Given the description of an element on the screen output the (x, y) to click on. 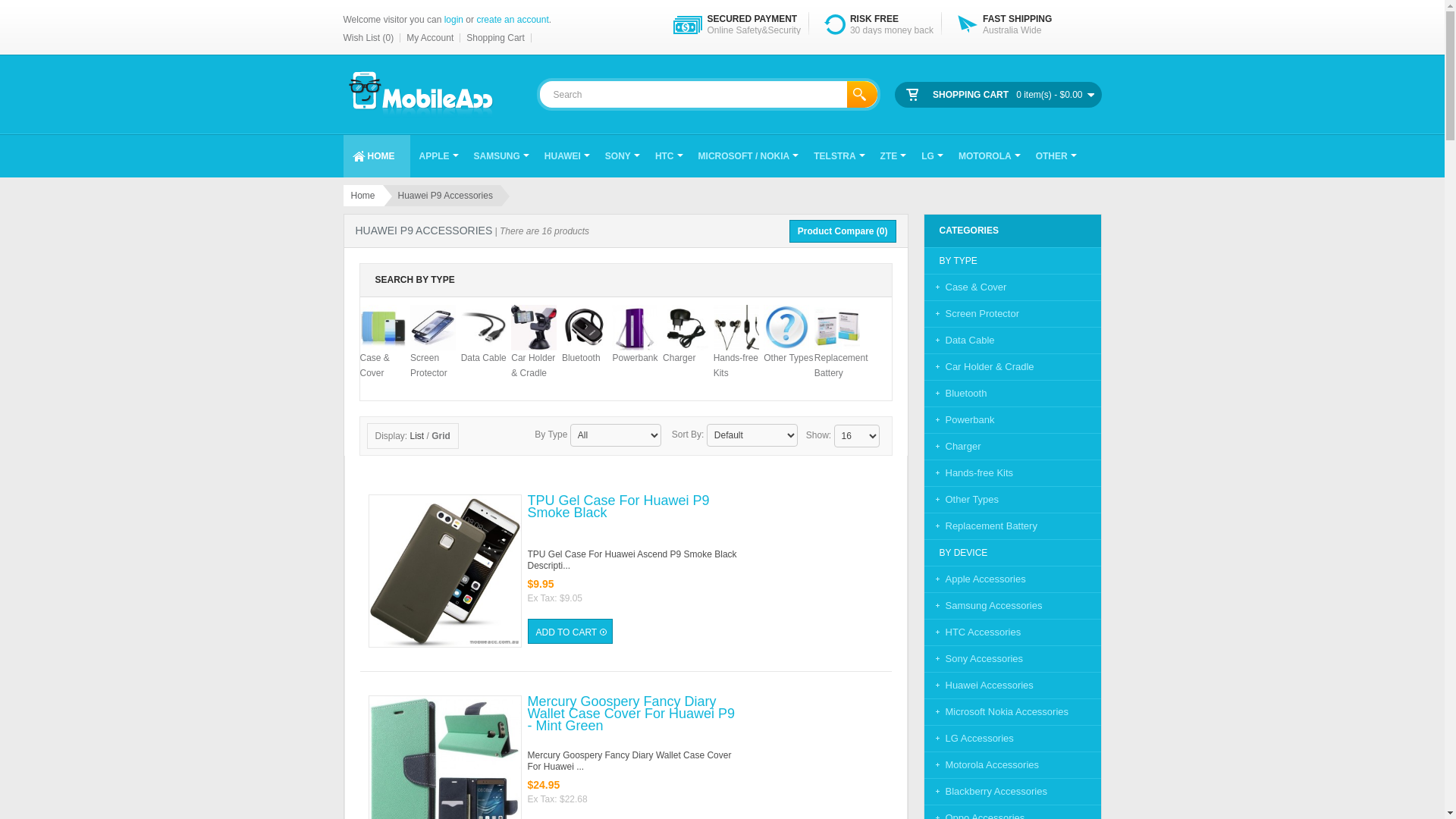
HOME Element type: text (375, 155)
Bluetooth Element type: text (584, 342)
Other Types Element type: text (960, 499)
Add to Compare Element type: text (424, 475)
Apple Accessories Element type: text (974, 578)
TPU Gel Case For Huawei P9 Smoke Black Element type: text (632, 517)
login Element type: text (453, 19)
MOTOROLA Element type: text (987, 155)
Grid Element type: text (440, 435)
Samsung Accessories Element type: text (982, 605)
Car Holder & Cradle Element type: text (978, 366)
Case & Cover Element type: text (964, 286)
Screen Protector Element type: text (971, 313)
Mobile Accessories Element type: hover (418, 94)
TELSTRA Element type: text (837, 155)
Blackberry Accessories Element type: text (984, 791)
ZTE Element type: text (892, 155)
SONY Element type: text (621, 155)
Bluetooth Element type: text (954, 392)
Charger Element type: text (951, 445)
HUAWEI Element type: text (565, 155)
LG Accessories Element type: text (968, 737)
Other Types Element type: text (787, 342)
Replacement Battery Element type: text (841, 349)
Add to Compare Element type: text (424, 676)
HTC Element type: text (667, 155)
Home Element type: text (362, 195)
HTC Accessories Element type: text (971, 631)
SAMSUNG Element type: text (499, 155)
Hands-free Kits Element type: text (736, 349)
Add to Wish List Element type: text (386, 676)
Huawei Accessories Element type: text (977, 684)
Motorola Accessories Element type: text (980, 764)
Add to Wish List Element type: text (386, 475)
Hands-free Kits Element type: text (968, 472)
0 item(s) - $0.00 Element type: text (1054, 94)
Replacement Battery Element type: text (979, 525)
MICROSOFT / NOKIA Element type: text (747, 155)
create an account Element type: text (512, 19)
Shopping Cart Element type: text (495, 37)
Car Holder & Cradle Element type: text (533, 349)
Sony Accessories Element type: text (972, 658)
Wish List (0) Element type: text (371, 37)
LG Element type: text (930, 155)
Screen Protector Element type: text (432, 349)
SHOPPING CART Element type: text (970, 94)
Case & Cover Element type: text (381, 349)
Add to Cart Element type: text (570, 630)
Product Compare (0) Element type: text (842, 230)
Data Cable Element type: text (958, 339)
Powerbank Element type: text (958, 419)
TPU Gel Case For Huawei P9 Smoke Black Element type: hover (444, 570)
Data Cable Element type: text (483, 342)
Charger Element type: text (685, 342)
OTHER Element type: text (1054, 155)
Huawei P9 Accessories Element type: text (441, 195)
Microsoft Nokia Accessories Element type: text (995, 711)
APPLE Element type: text (436, 155)
My Account Element type: text (430, 37)
Powerbank Element type: text (634, 342)
